Given the description of an element on the screen output the (x, y) to click on. 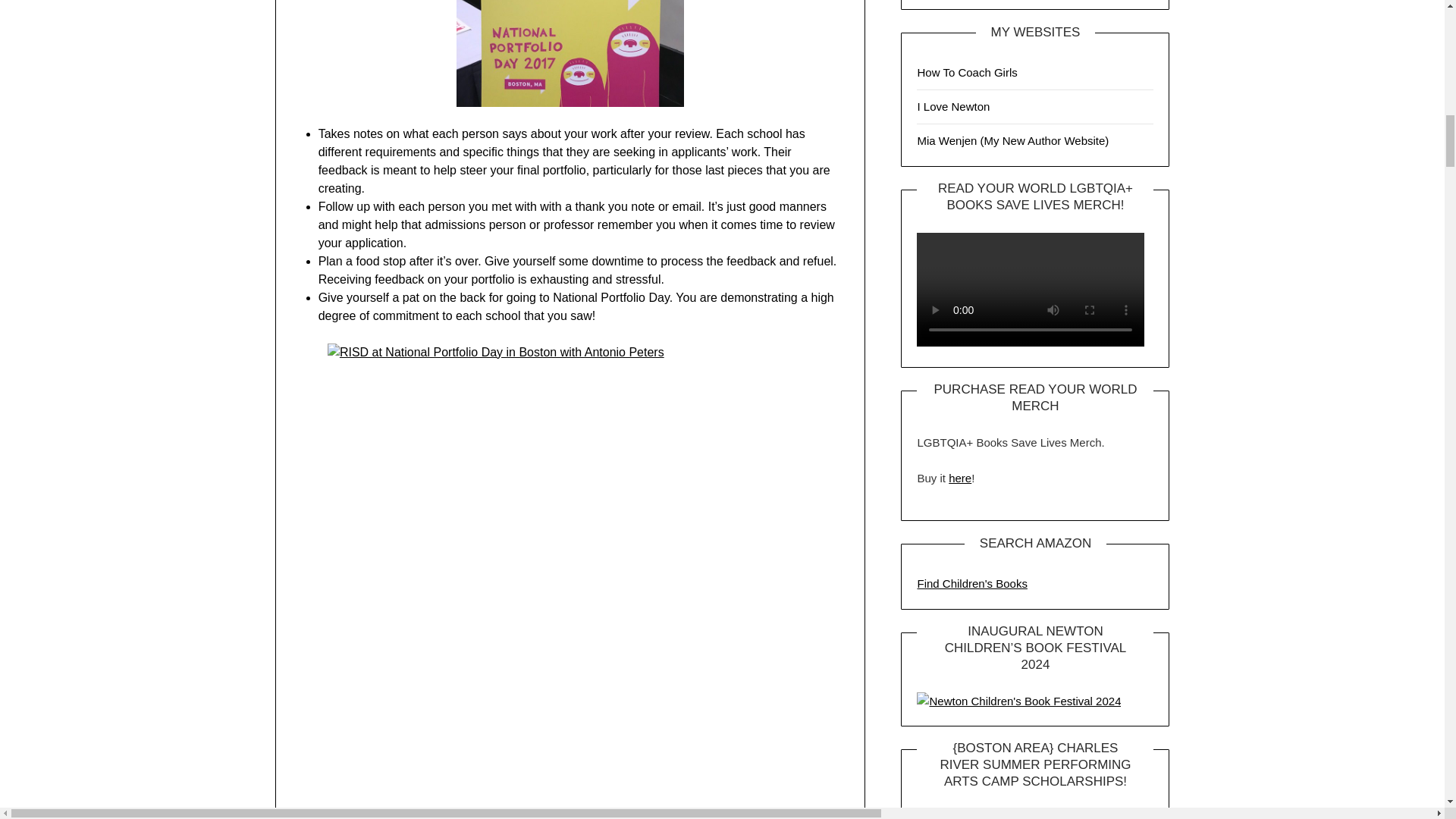
My New Author Website (1012, 140)
